Given the description of an element on the screen output the (x, y) to click on. 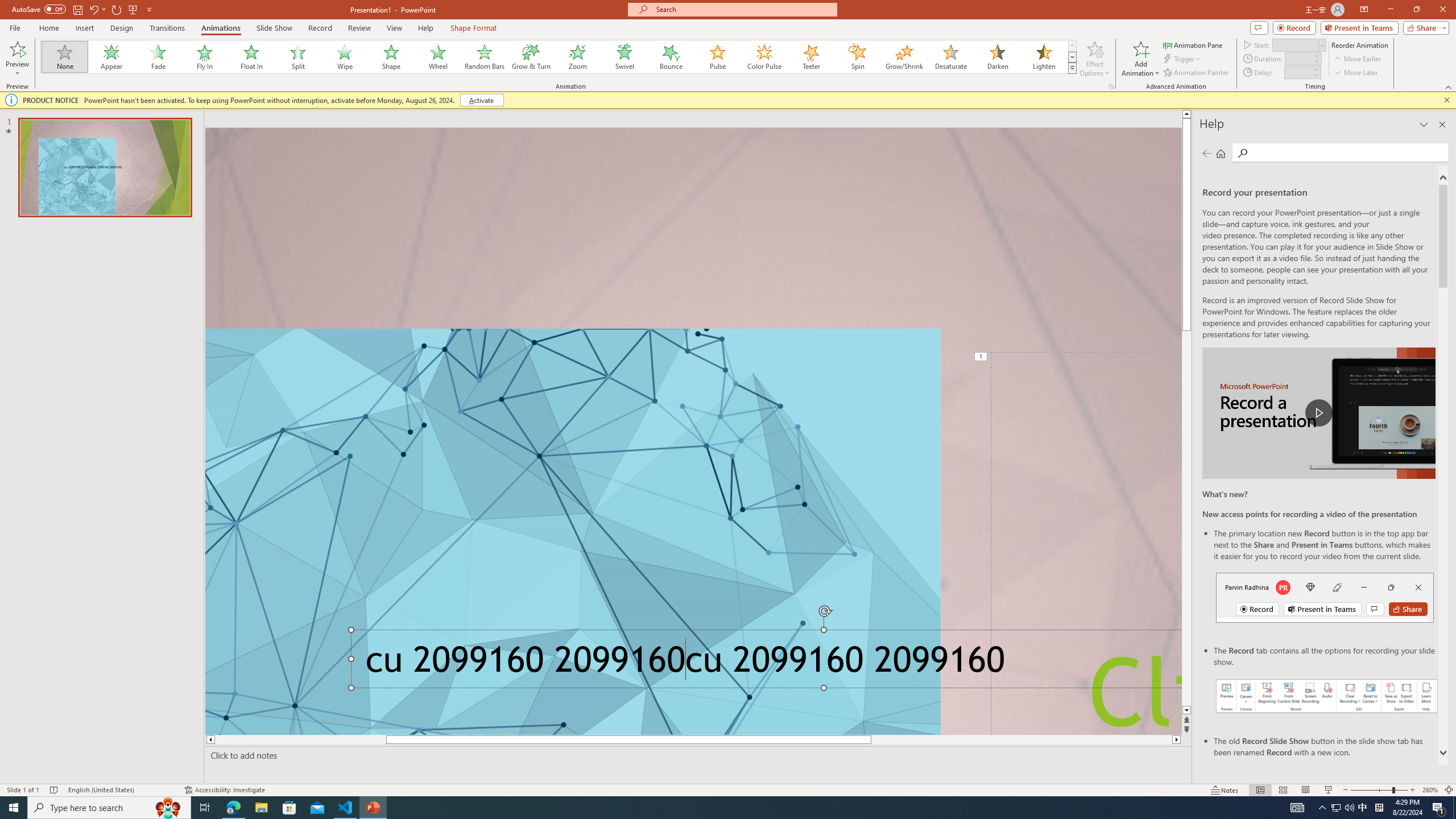
More Options... (1110, 85)
Swivel (624, 56)
Move Earlier (1357, 58)
None (65, 56)
Preview (17, 58)
Random Bars (484, 56)
Trigger (1182, 58)
Activate (481, 100)
